Given the description of an element on the screen output the (x, y) to click on. 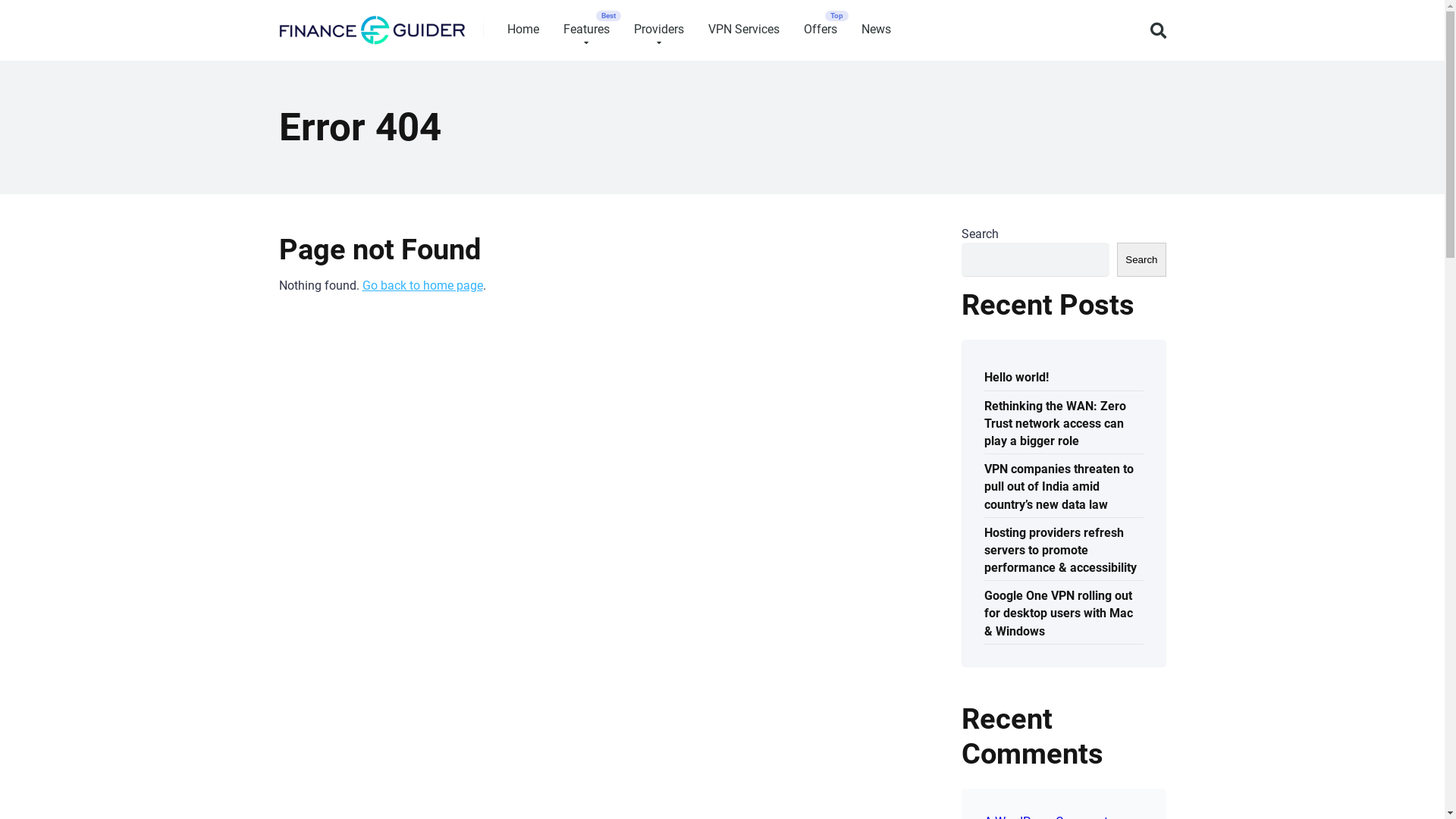
VPN Services Element type: text (743, 30)
Providers Element type: text (658, 30)
FinanceGuider Element type: hover (372, 24)
Offers Element type: text (820, 30)
Go back to home page Element type: text (422, 285)
Home Element type: text (522, 30)
News Element type: text (876, 30)
Hello world! Element type: text (1016, 376)
Features Element type: text (585, 30)
Search Element type: text (1141, 259)
